Given the description of an element on the screen output the (x, y) to click on. 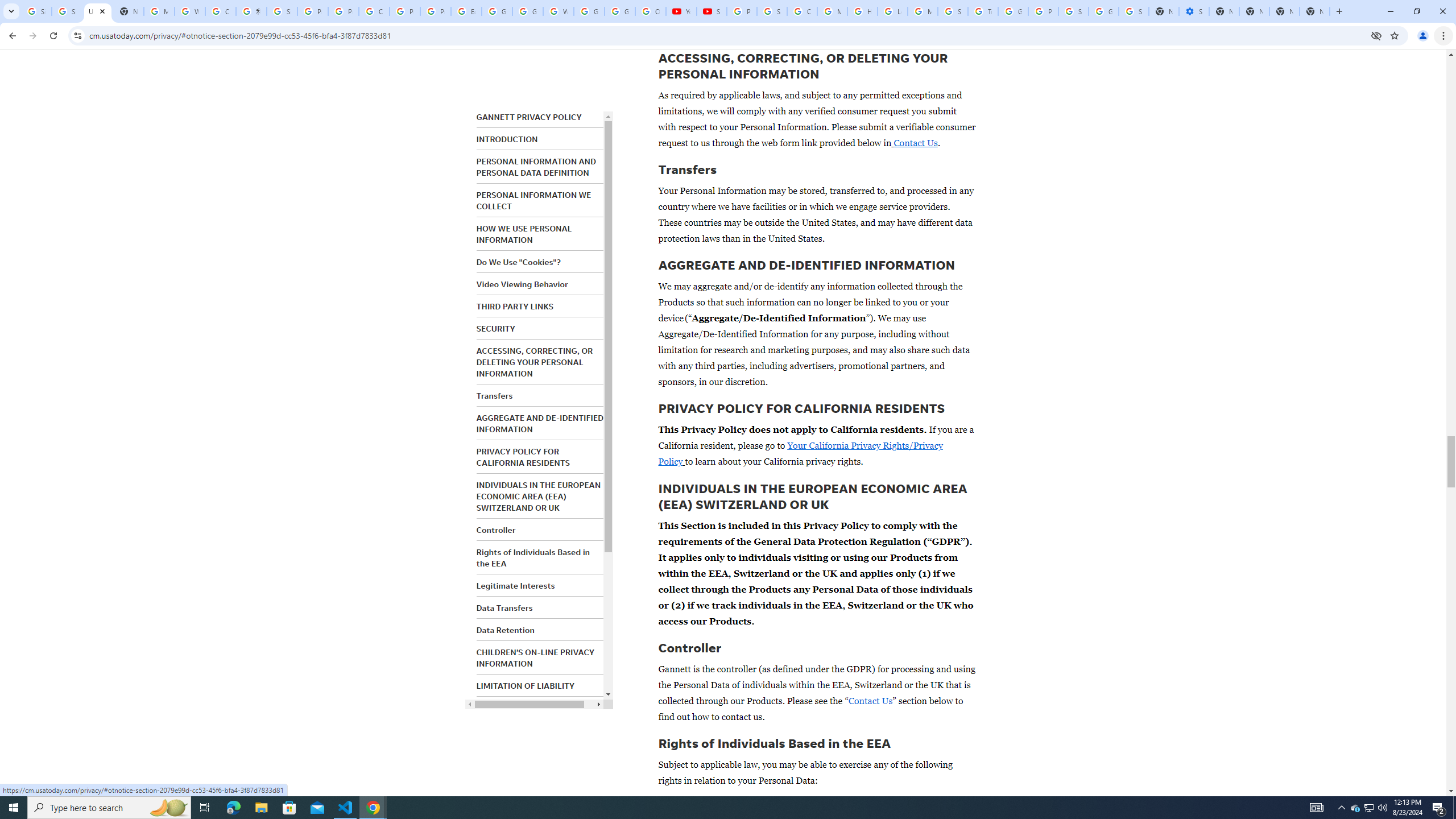
Create your Google Account (373, 11)
Google Cybersecurity Innovations - Google Safety Center (1103, 11)
Sign in - Google Accounts (66, 11)
Welcome to My Activity (558, 11)
